Given the description of an element on the screen output the (x, y) to click on. 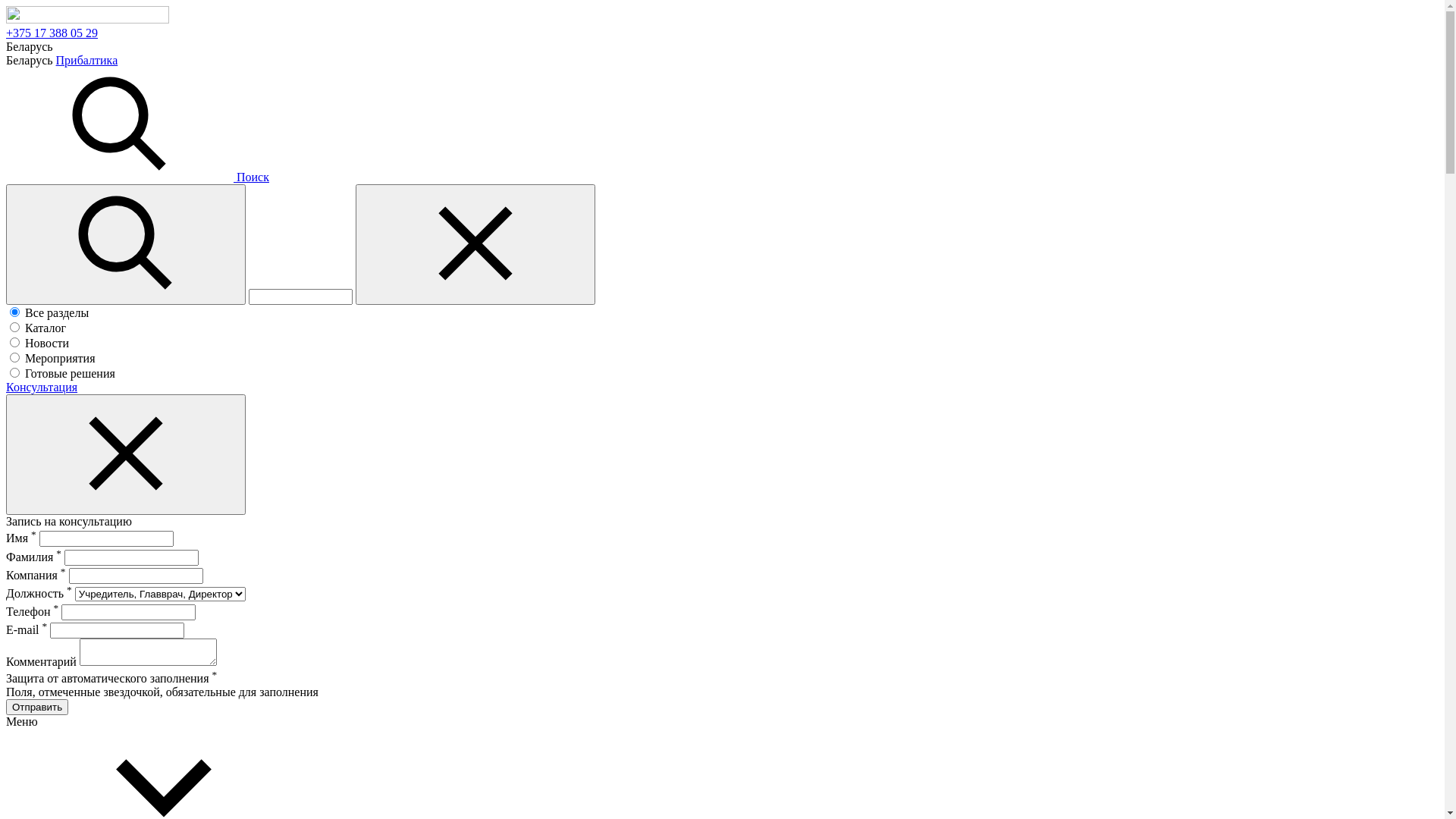
+375 17 388 05 29 Element type: text (51, 32)
